Given the description of an element on the screen output the (x, y) to click on. 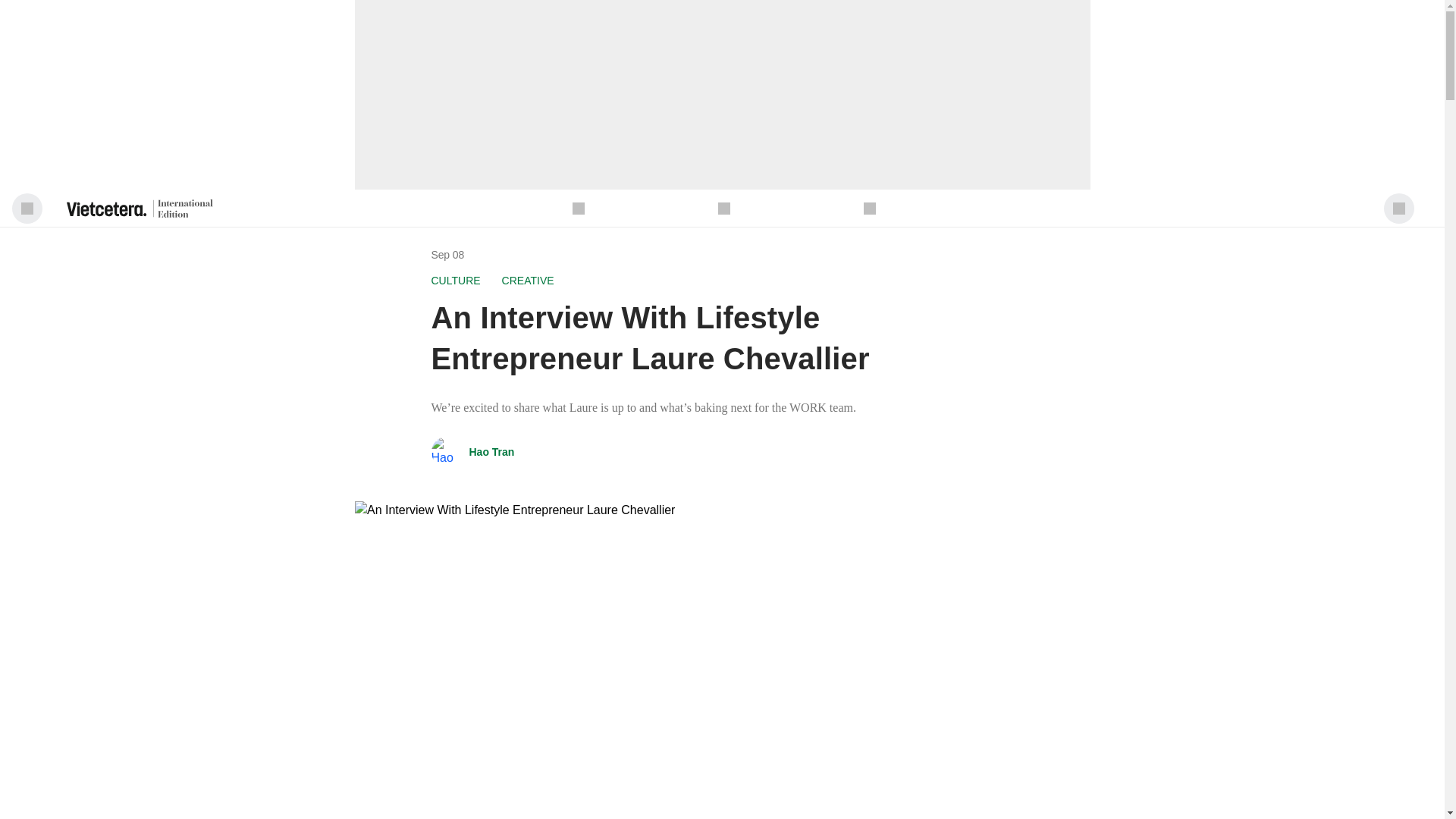
Culture (455, 280)
Creative (528, 280)
CULTURE (455, 280)
Hao Tran (490, 452)
Instagram (869, 208)
Home (577, 208)
Youtube (723, 208)
CREATIVE (528, 280)
